Given the description of an element on the screen output the (x, y) to click on. 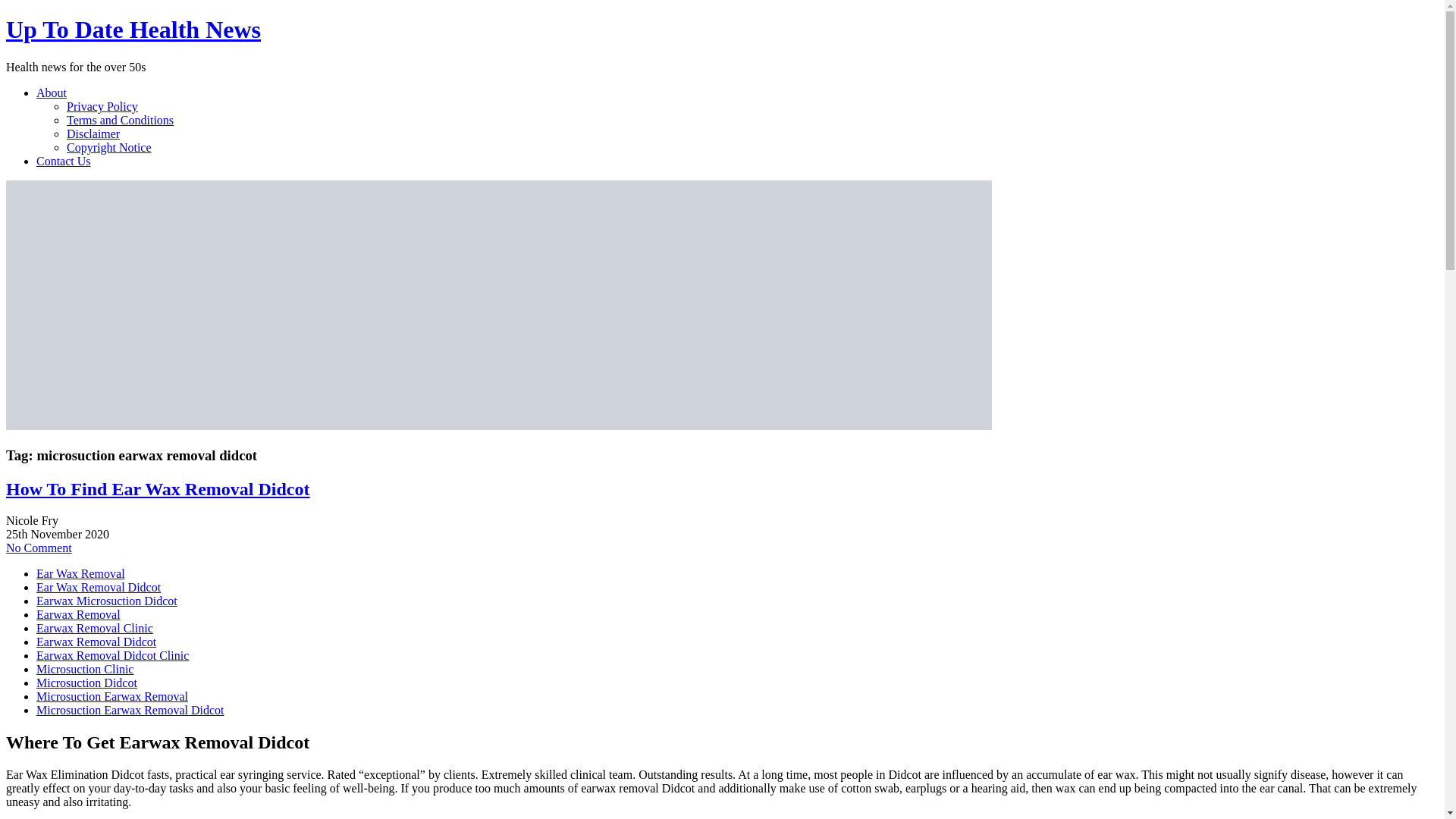
Microsuction Clinic (84, 668)
No Comment (38, 547)
Microsuction Earwax Removal Didcot (130, 709)
Ear Wax Removal (80, 573)
Earwax Microsuction Didcot (106, 600)
About (51, 92)
Microsuction Earwax Removal (111, 696)
Earwax Removal (78, 614)
Ear Wax Removal Didcot (98, 586)
Microsuction Didcot (86, 682)
